Given the description of an element on the screen output the (x, y) to click on. 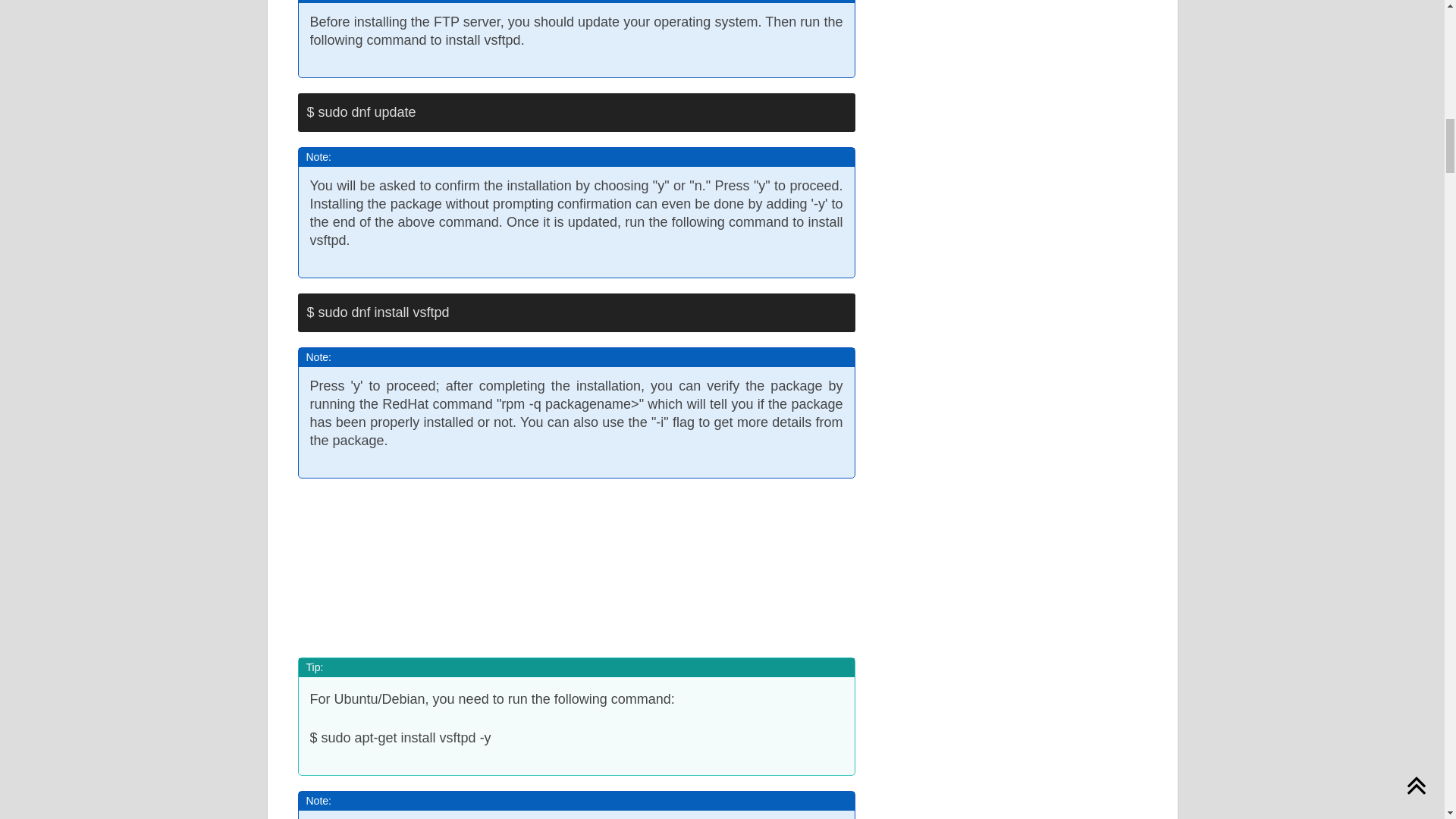
How to Set up Anonymous FTP in Rocky Linux 8.4 2 (575, 561)
